Given the description of an element on the screen output the (x, y) to click on. 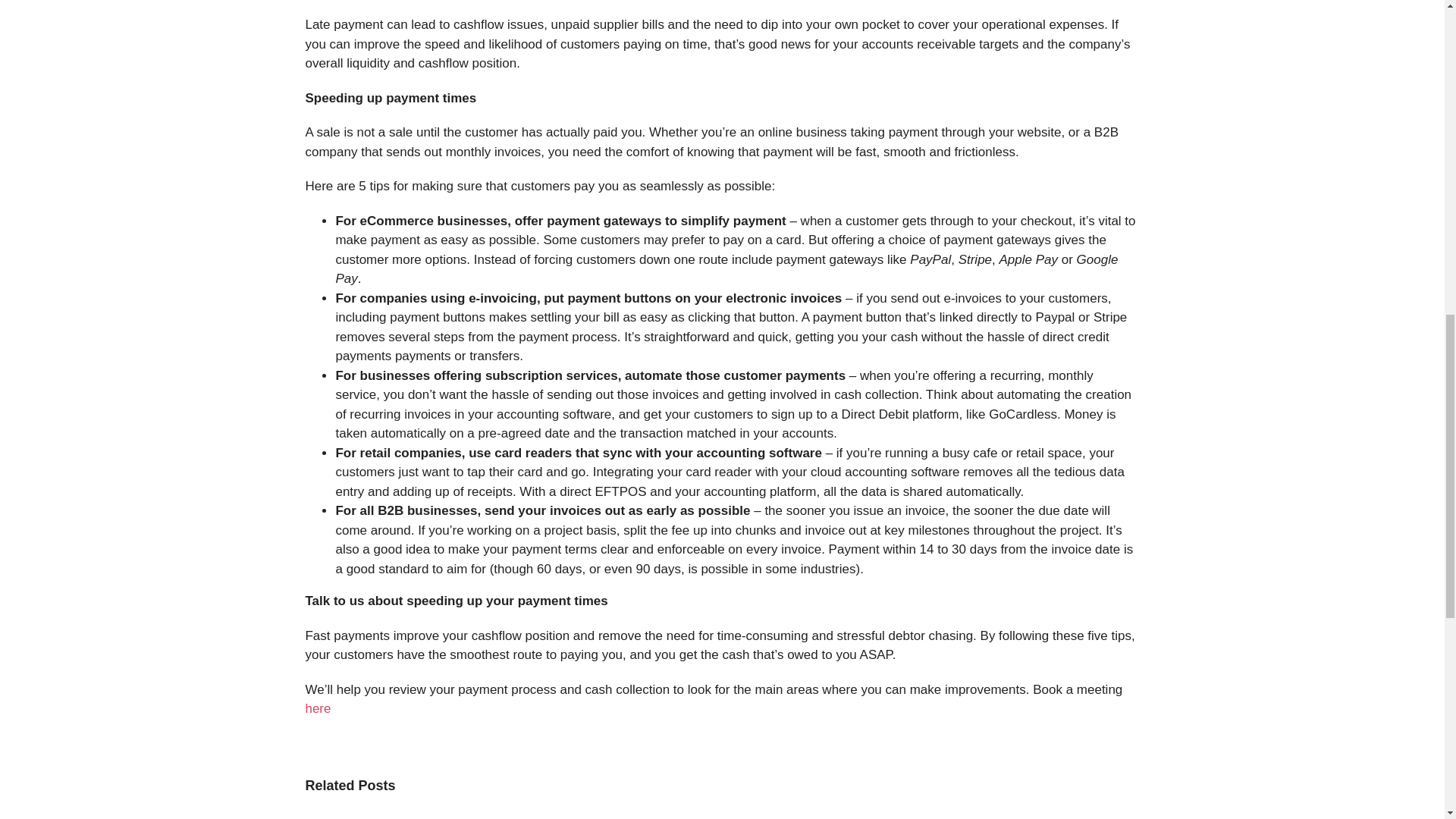
here (317, 708)
